Given the description of an element on the screen output the (x, y) to click on. 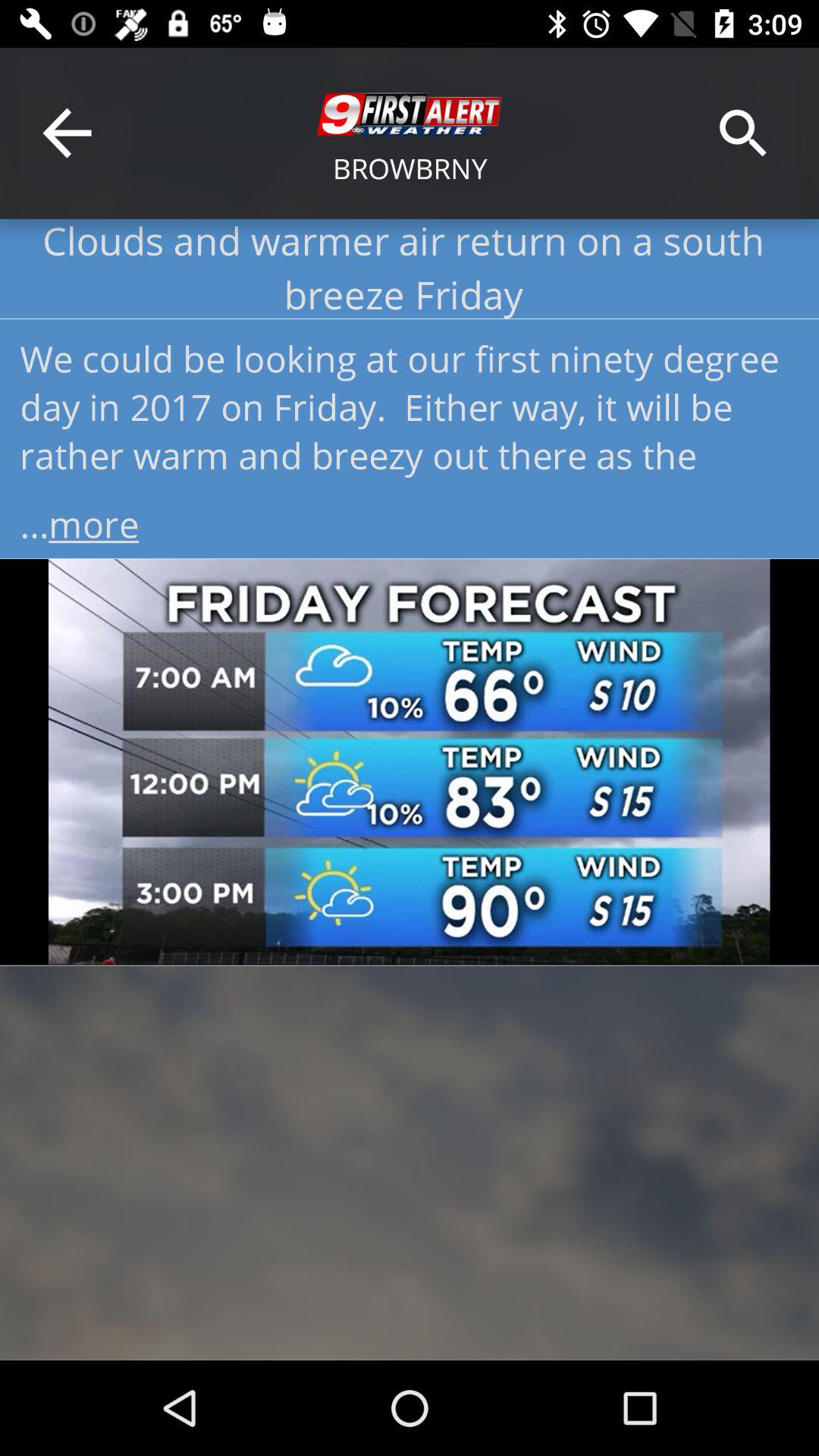
jump until ...more item (409, 518)
